Given the description of an element on the screen output the (x, y) to click on. 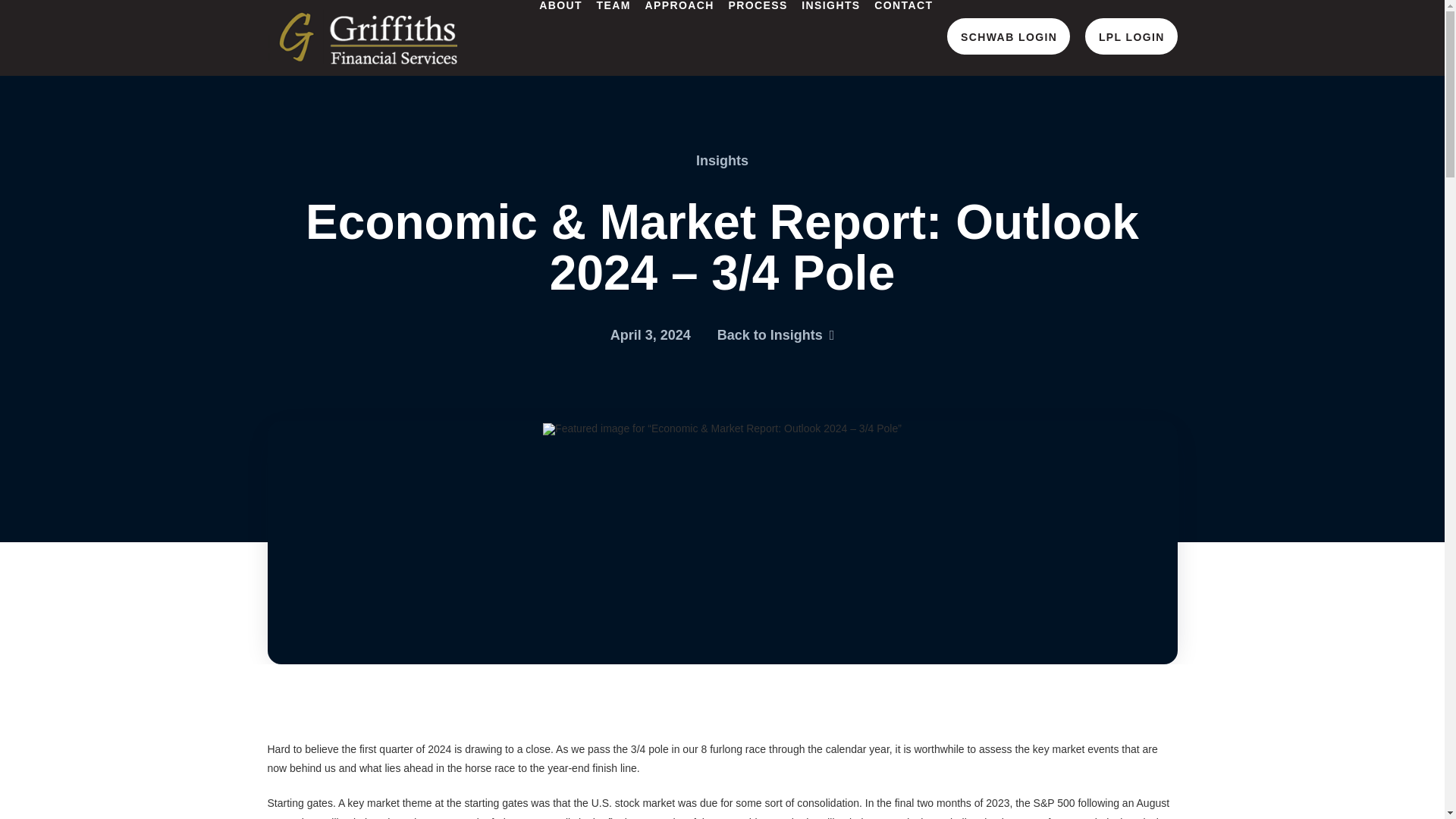
Insights (721, 160)
SCHWAB LOGIN (1008, 36)
CONTACT (902, 38)
APPROACH (678, 38)
INSIGHTS (829, 38)
PROCESS (756, 38)
Back to Insights (775, 334)
LPL LOGIN (1130, 36)
